Given the description of an element on the screen output the (x, y) to click on. 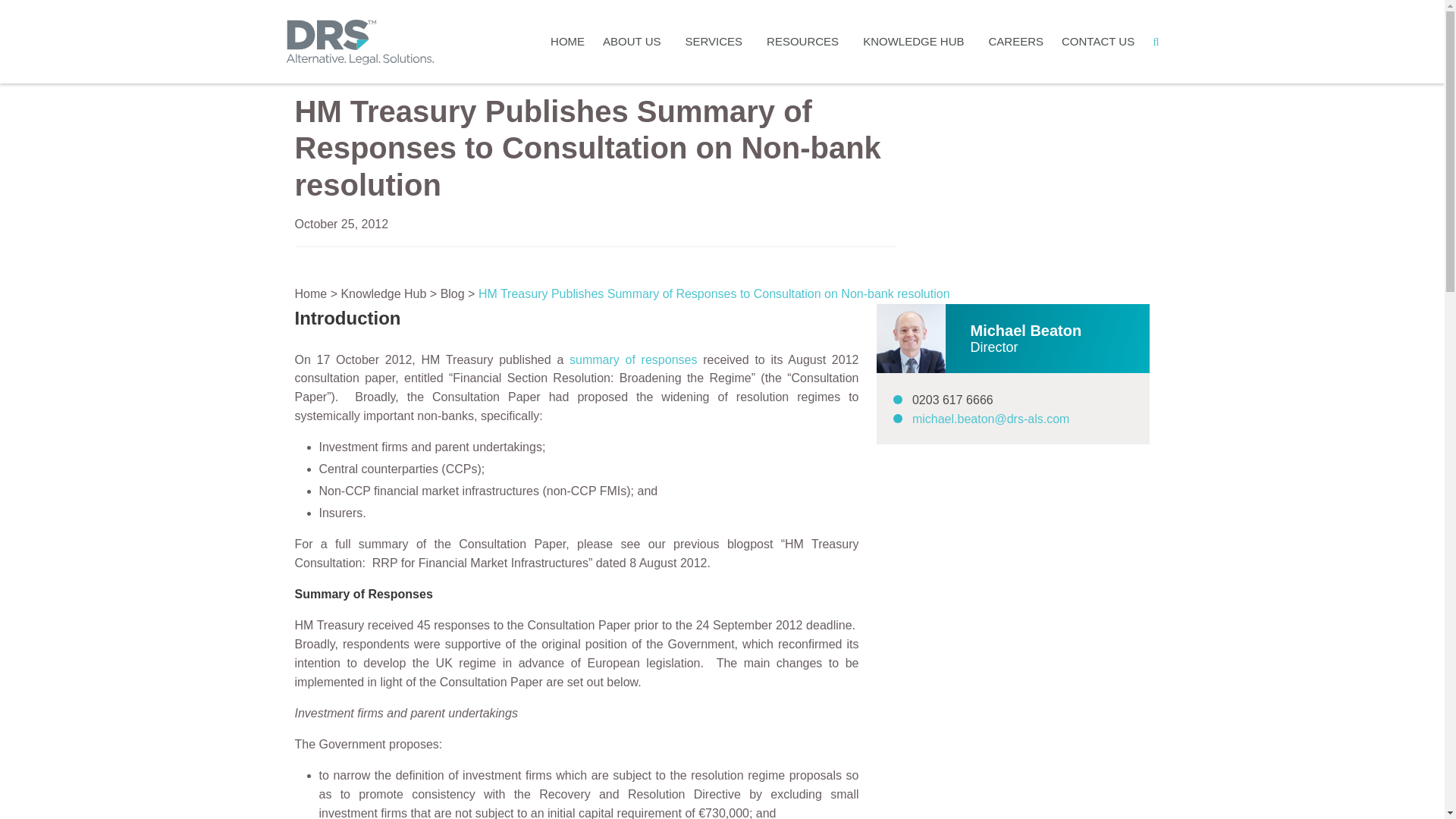
Blog (452, 293)
Go to Blog. (452, 293)
SERVICES (717, 41)
Knowledge Hub (383, 293)
KNOWLEDGE HUB (915, 41)
summary of responses (633, 359)
RESOURCES (805, 41)
summary of responses (633, 359)
CONTACT US (1097, 41)
